Given the description of an element on the screen output the (x, y) to click on. 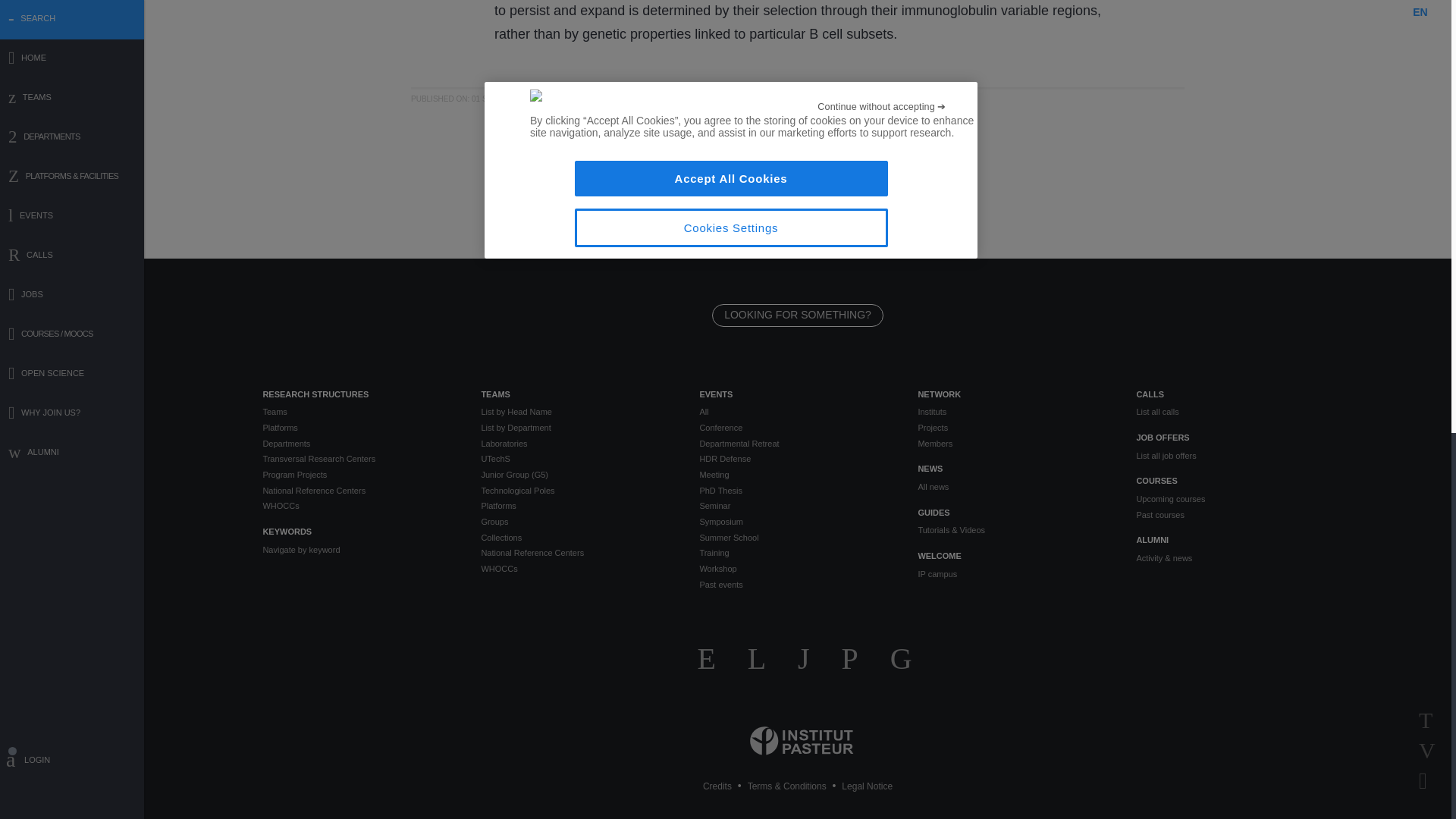
Departments (360, 443)
Transversal Research Centers (360, 459)
Platforms (360, 427)
Teams (360, 411)
